Given the description of an element on the screen output the (x, y) to click on. 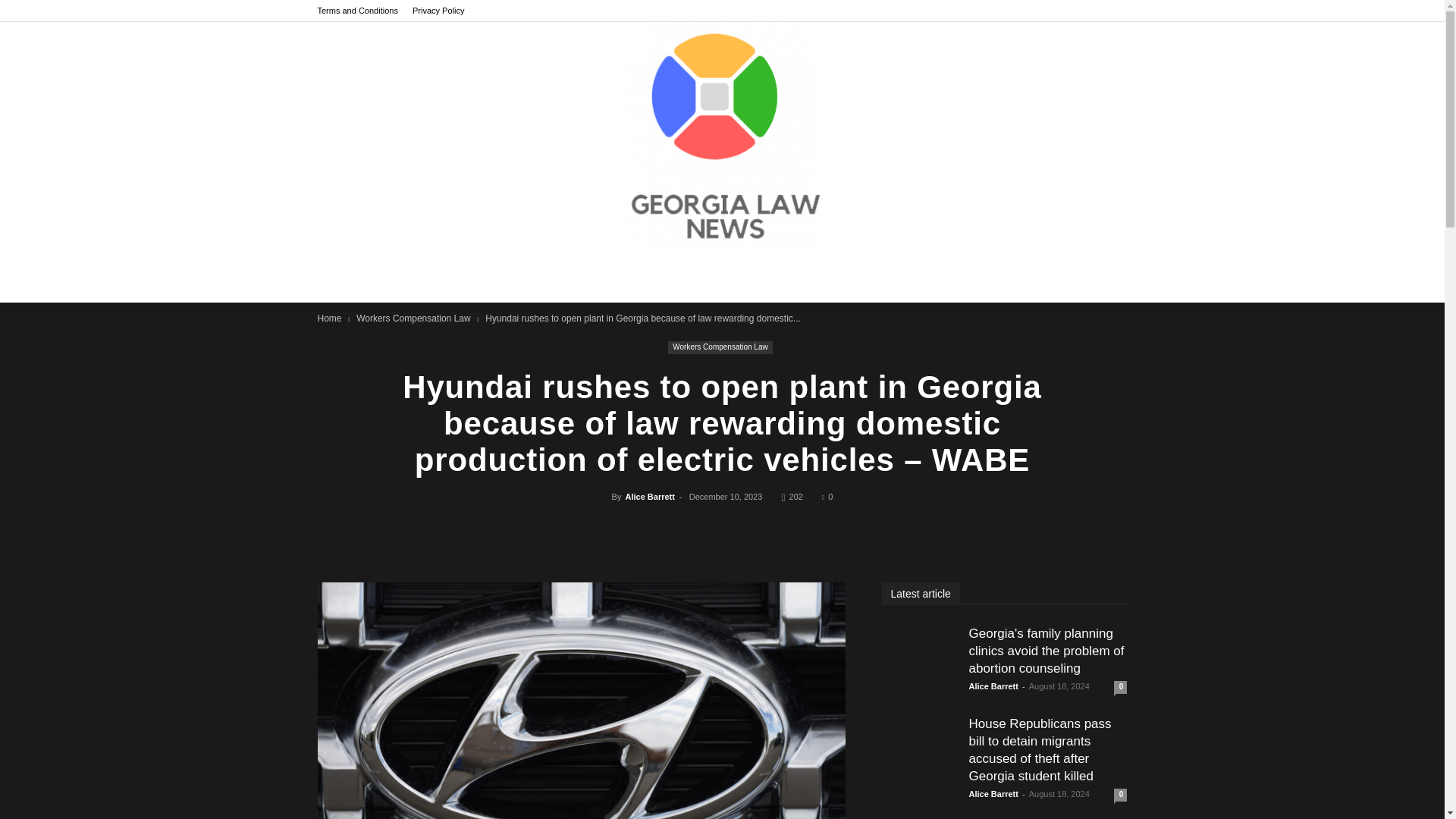
Search (1083, 345)
Workers Compensation Law (413, 317)
View all posts in Workers Compensation Law (413, 317)
HOME (411, 275)
Terms and Conditions (357, 10)
INDIGENT DEFENSE (685, 275)
FAMILY LAW (580, 275)
Privacy Policy (438, 10)
0 (827, 496)
IMMIGRATION LAW (807, 275)
